Given the description of an element on the screen output the (x, y) to click on. 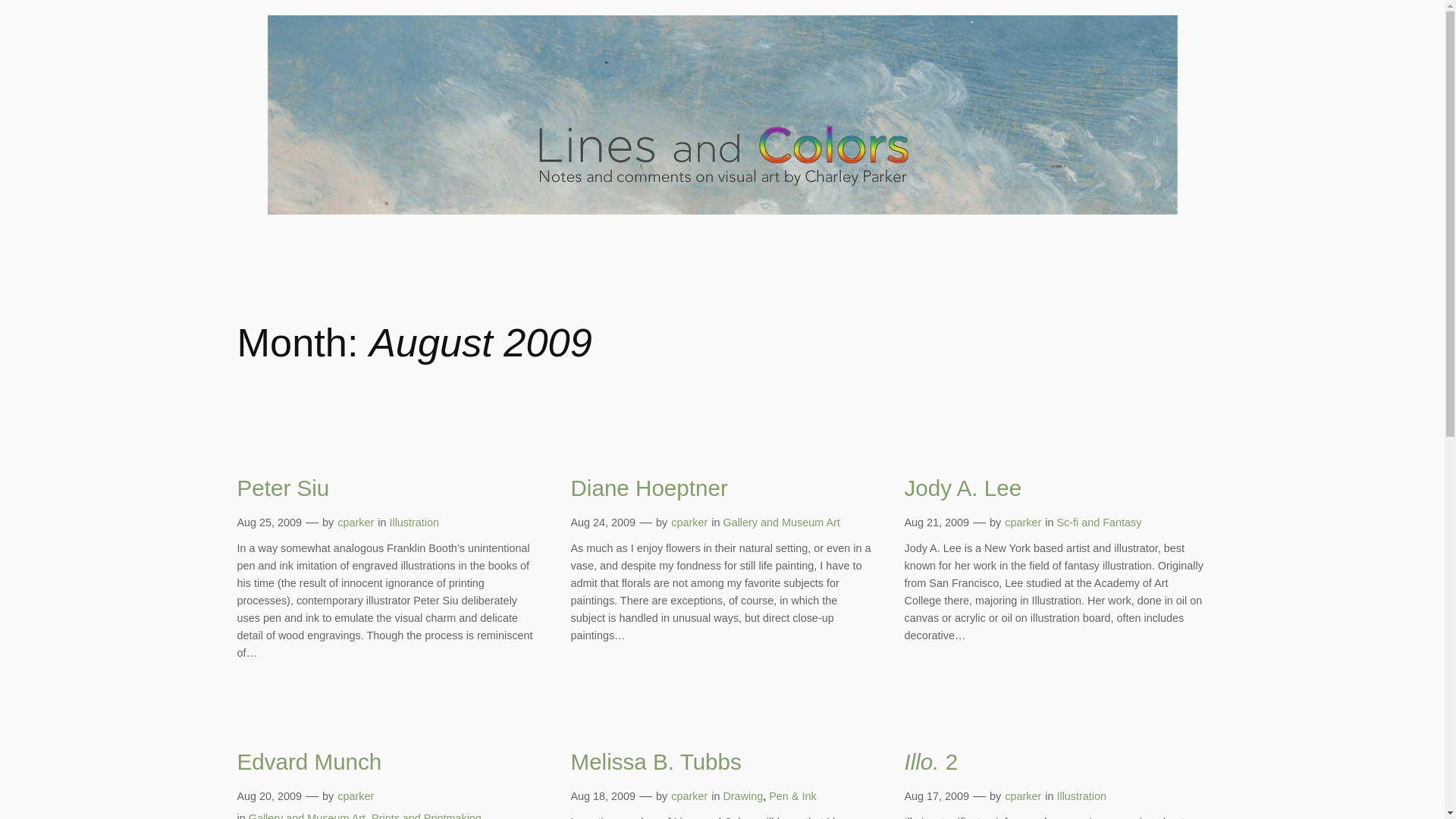
Aug 24, 2009 (602, 522)
Aug 18, 2009 (602, 796)
cparker (689, 522)
Aug 25, 2009 (268, 522)
cparker (1022, 796)
Gallery and Museum Art (306, 815)
Gallery and Museum Art (781, 522)
Aug 21, 2009 (936, 522)
cparker (689, 796)
cparker (1022, 522)
